Given the description of an element on the screen output the (x, y) to click on. 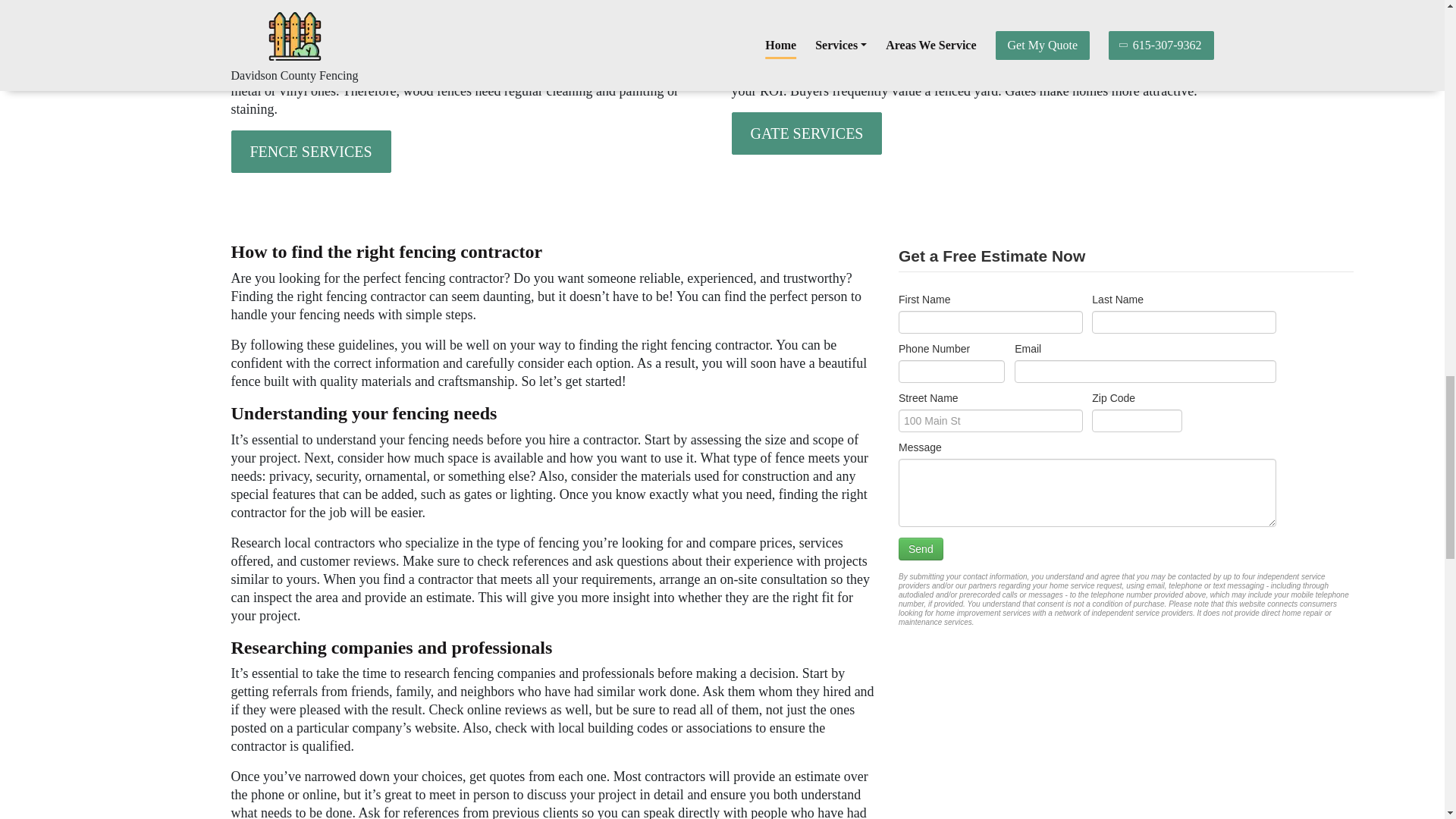
FENCE SERVICES (310, 151)
GATE SERVICES (806, 133)
